Given the description of an element on the screen output the (x, y) to click on. 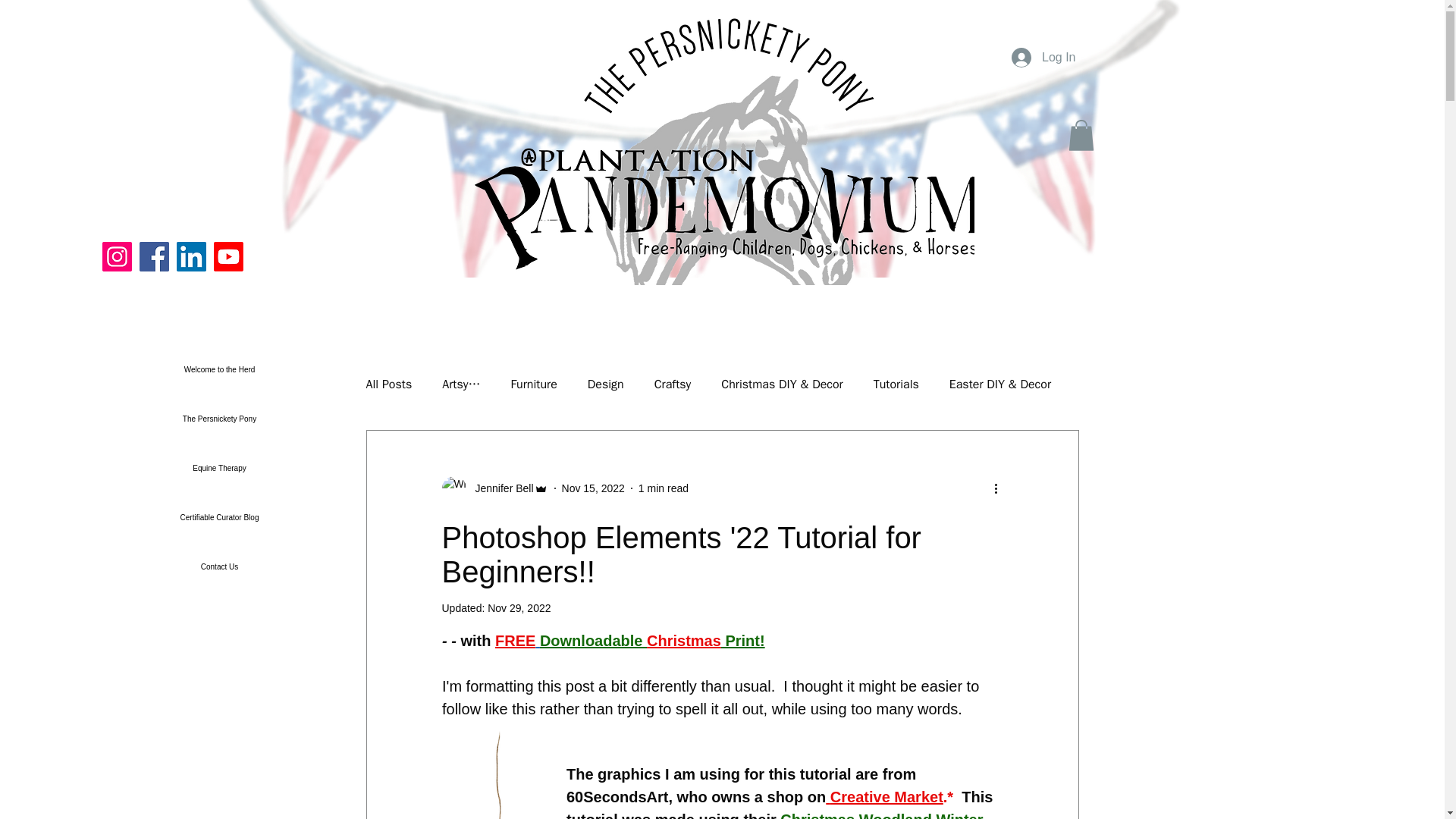
Christmas (683, 640)
1 min read (663, 488)
Christmas Woodland Winter Animals watercolor collection (775, 816)
Tutorials (895, 383)
Nov 29, 2022 (518, 607)
Creative Market (885, 797)
Jennifer Bell (498, 488)
Nov 15, 2022 (593, 488)
Craftsy (672, 383)
Furniture (533, 383)
Log In (1043, 57)
Design (606, 383)
Downloadable  (592, 640)
 Print! (742, 640)
Jennifer Bell (494, 487)
